Given the description of an element on the screen output the (x, y) to click on. 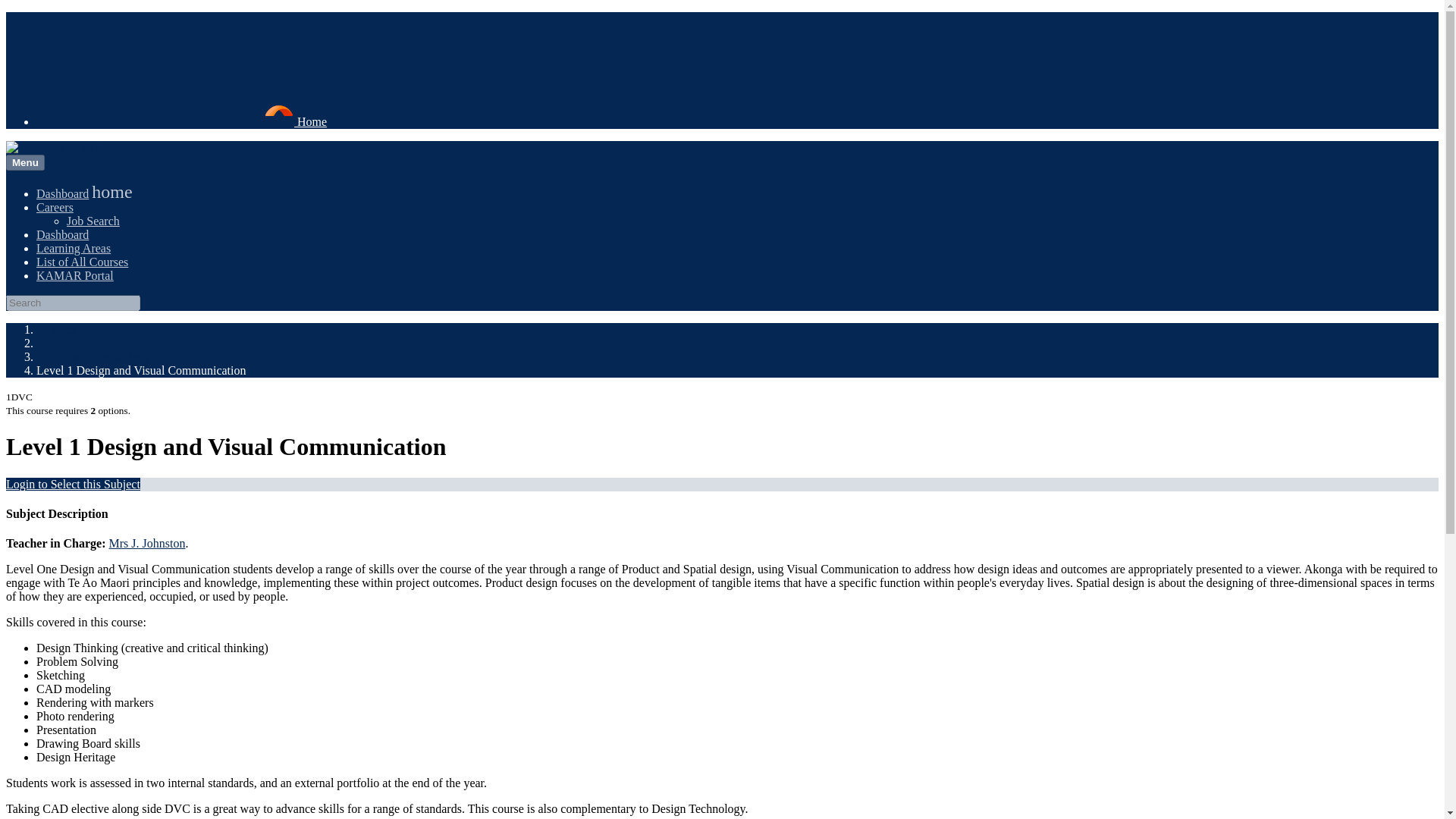
Careers (55, 206)
Riccarton High School (67, 147)
Dashboard (62, 193)
Home (50, 342)
SchoolBridge Dashboard (62, 193)
Hangarau - Technology (93, 356)
Login to Select this Subject (72, 483)
List of All Courses (82, 261)
Home (111, 193)
Home (181, 121)
